Given the description of an element on the screen output the (x, y) to click on. 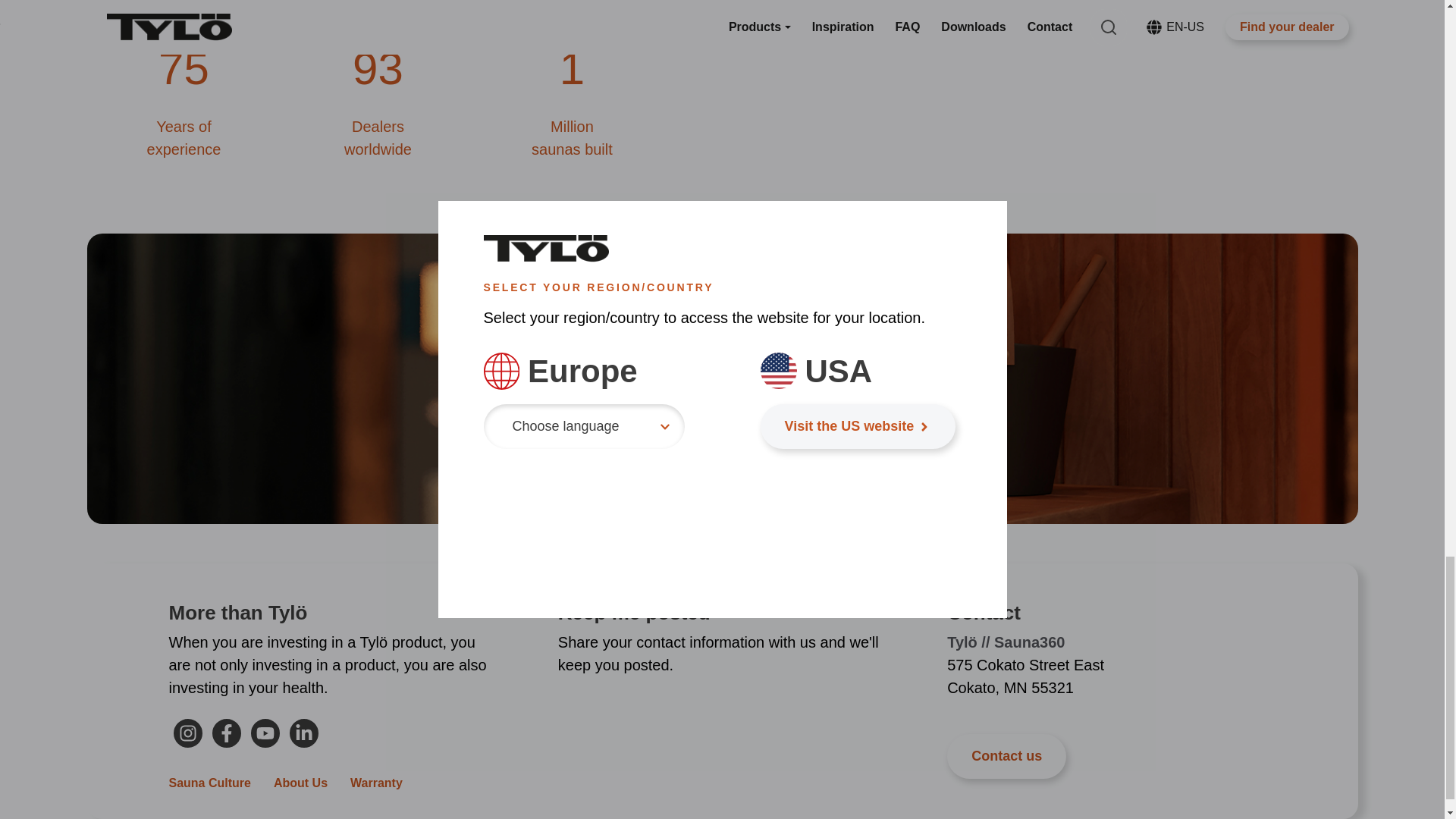
Facebook (225, 732)
Instagram (187, 732)
YouTube (265, 732)
LinkedIn (303, 732)
